Given the description of an element on the screen output the (x, y) to click on. 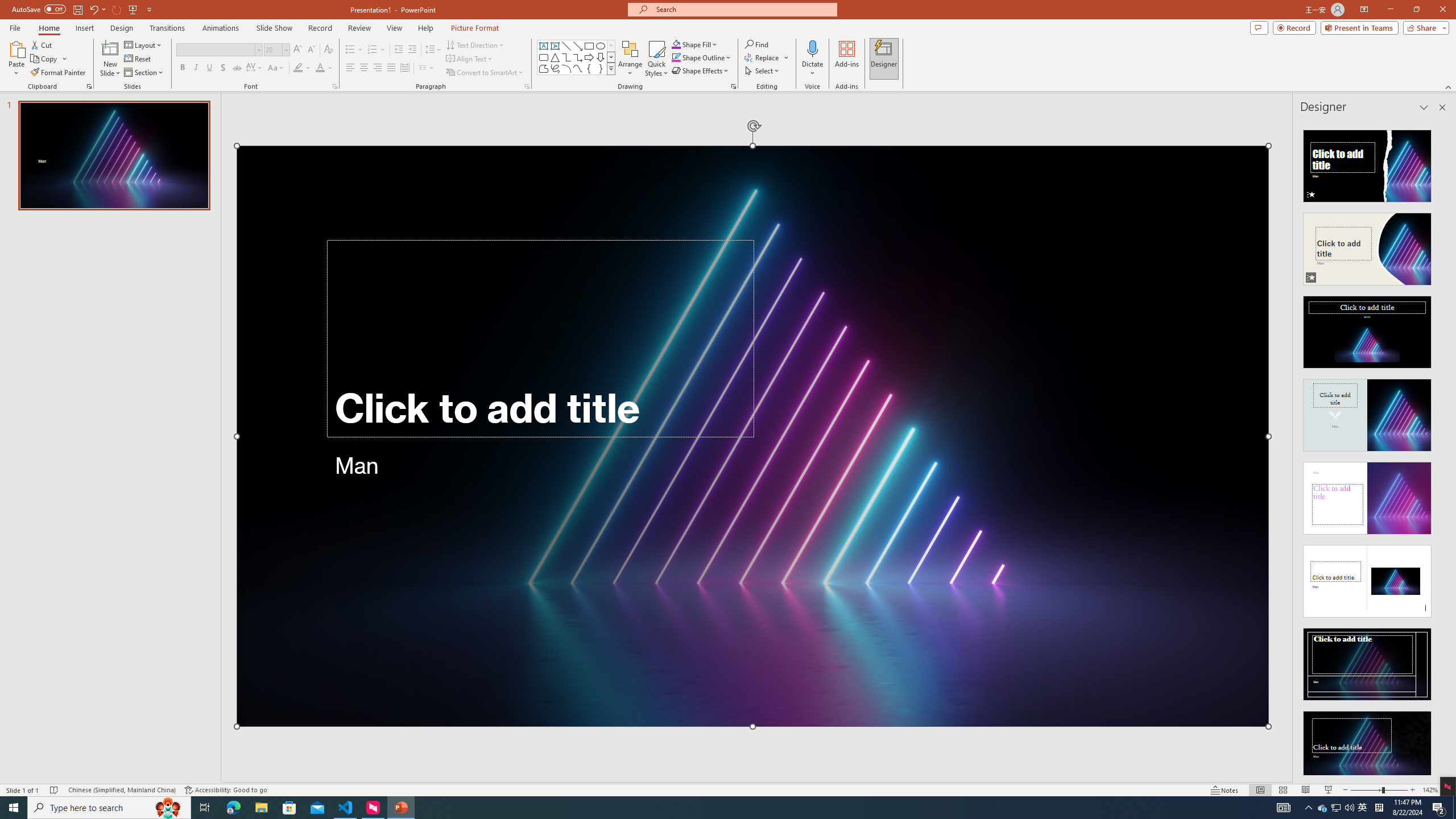
Picture Format (475, 28)
Class: NetUIScrollBar (1441, 447)
